Given the description of an element on the screen output the (x, y) to click on. 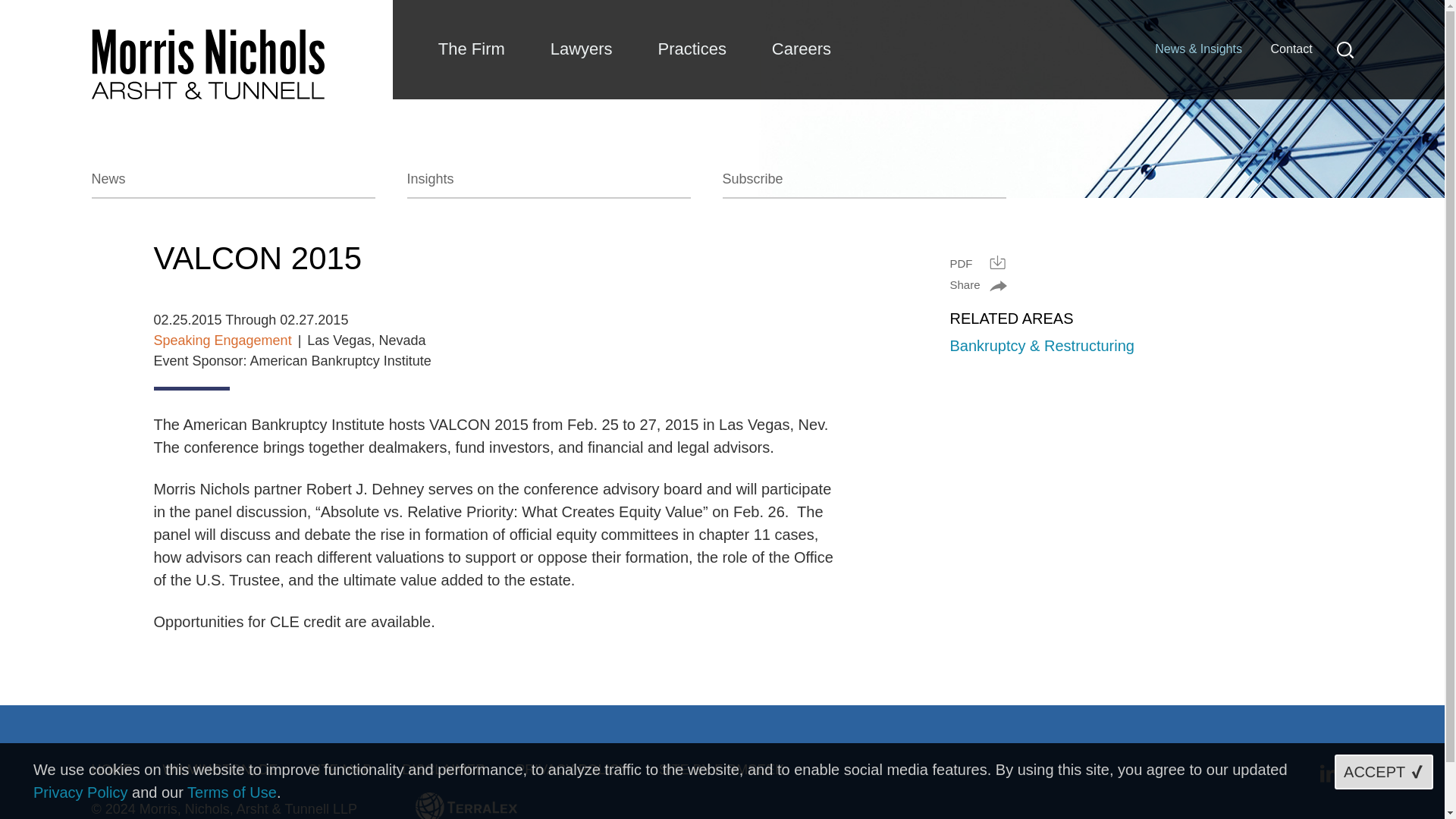
Jump to Page (663, 19)
Insights (548, 183)
PDF (977, 263)
News (232, 183)
Main Menu (673, 19)
Share (977, 284)
Subscribe (864, 183)
The Firm (470, 48)
Menu (673, 19)
Share (977, 284)
Main Content (666, 19)
Contact (1291, 48)
Practices (691, 48)
Careers (801, 48)
Lawyers (580, 48)
